Given the description of an element on the screen output the (x, y) to click on. 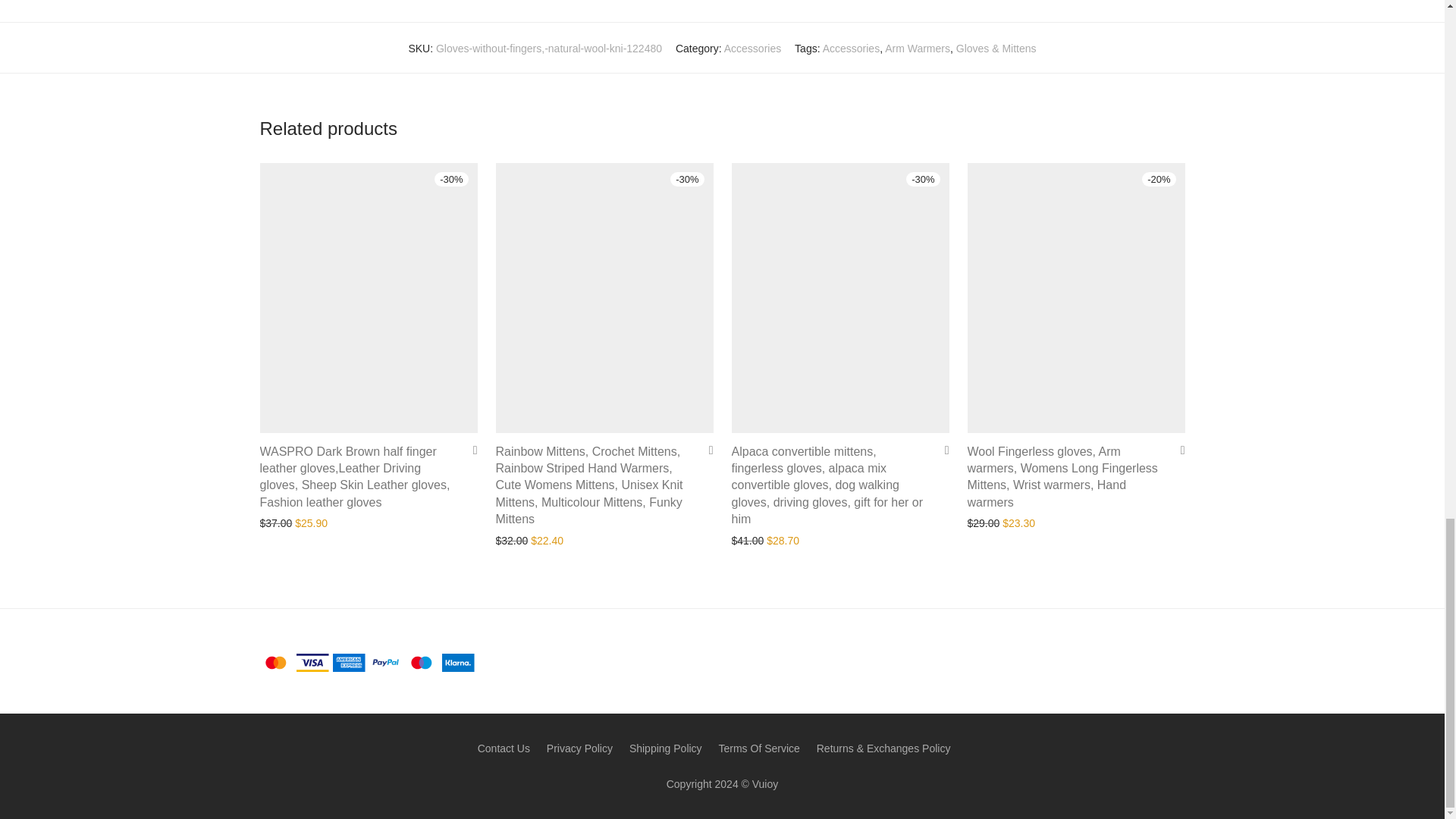
Add to Wishlist (1177, 449)
Add to Wishlist (705, 449)
Add to Wishlist (470, 449)
Add to Wishlist (941, 449)
